Given the description of an element on the screen output the (x, y) to click on. 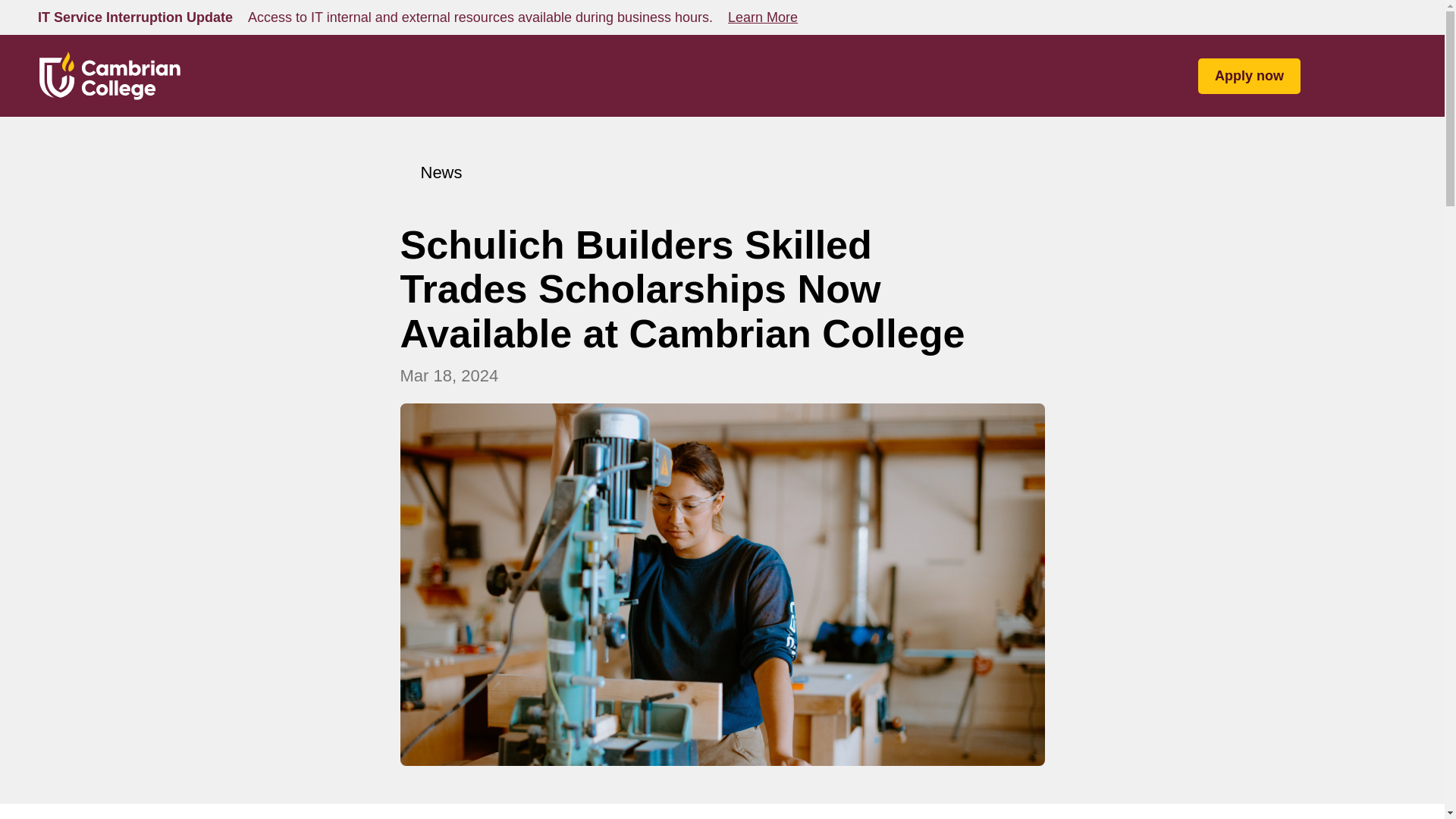
News (431, 172)
Search (1334, 75)
Open Menu (1395, 75)
Apply now (1249, 75)
Saved Programs (1364, 75)
Dismiss alert (1395, 16)
